Given the description of an element on the screen output the (x, y) to click on. 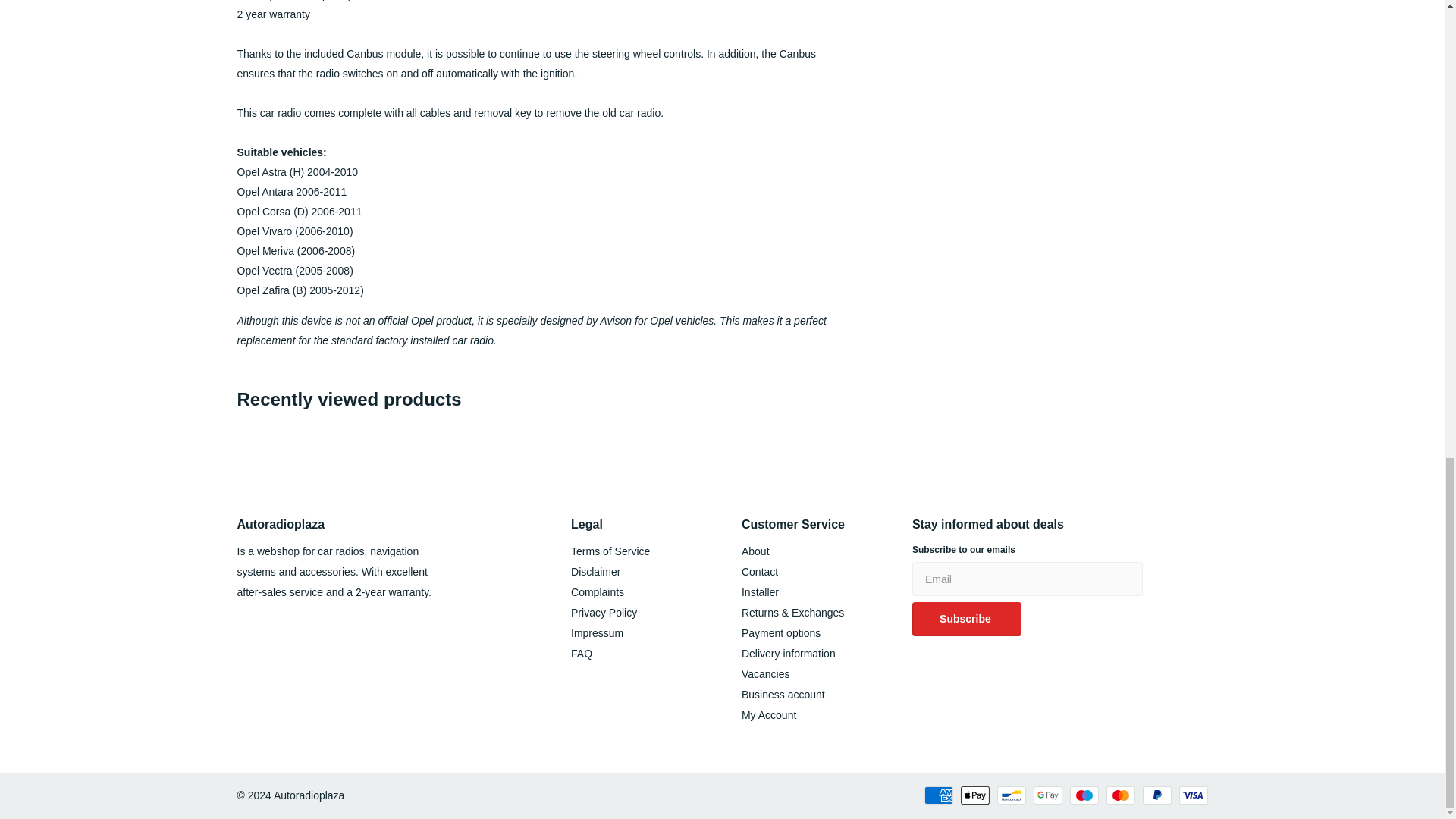
Delivery information (788, 653)
PayPal (1155, 795)
Maestro (1082, 795)
Terms of Service (609, 551)
Complaints (597, 592)
Apple Pay (973, 795)
Disclaimer (595, 571)
My Account (768, 715)
Visa (1192, 795)
Contact (759, 571)
